Given the description of an element on the screen output the (x, y) to click on. 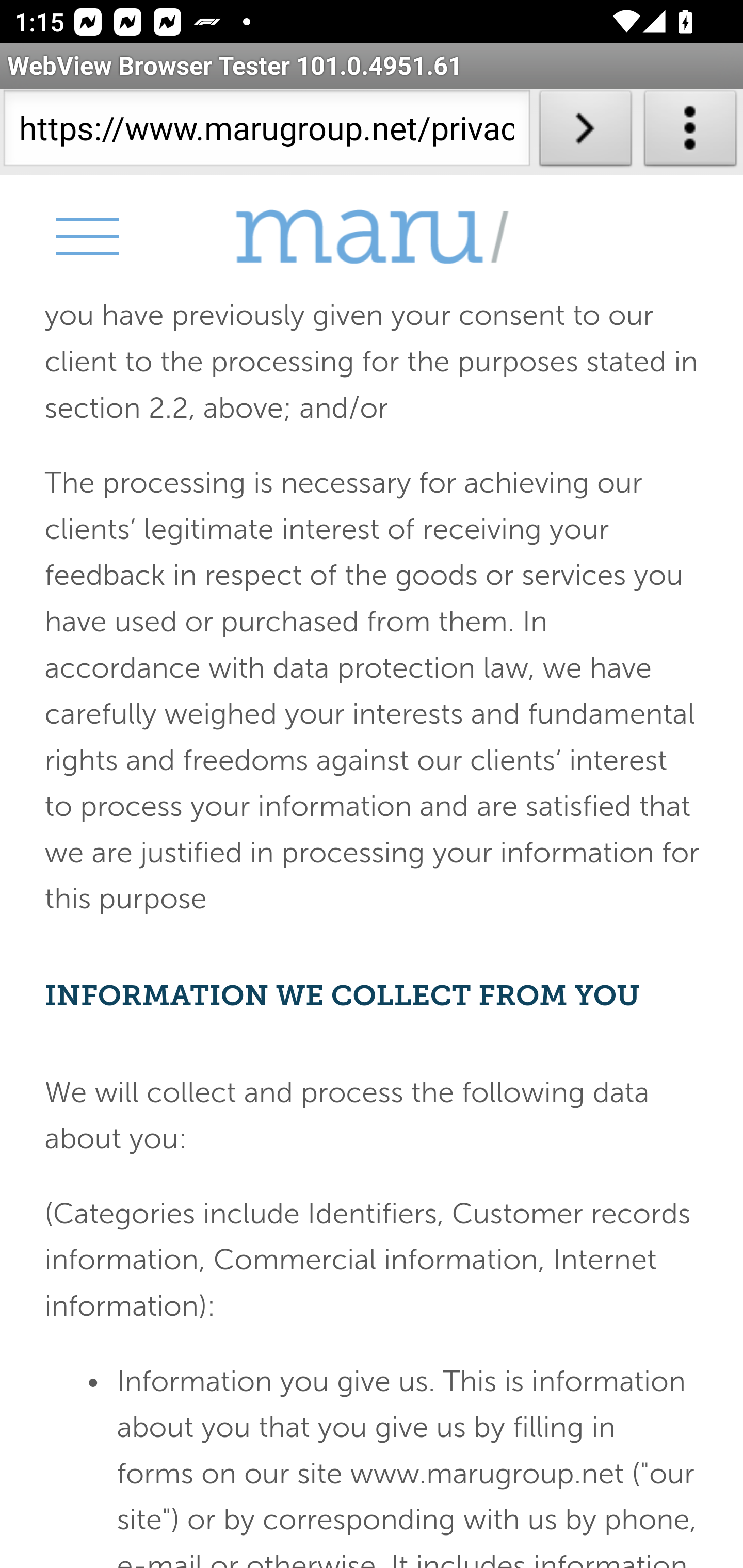
https://www.marugroup.net/privacy-policy/ (266, 132)
Load URL (585, 132)
About WebView (690, 132)
Open Menu (86, 236)
Maru Group (371, 237)
